Given the description of an element on the screen output the (x, y) to click on. 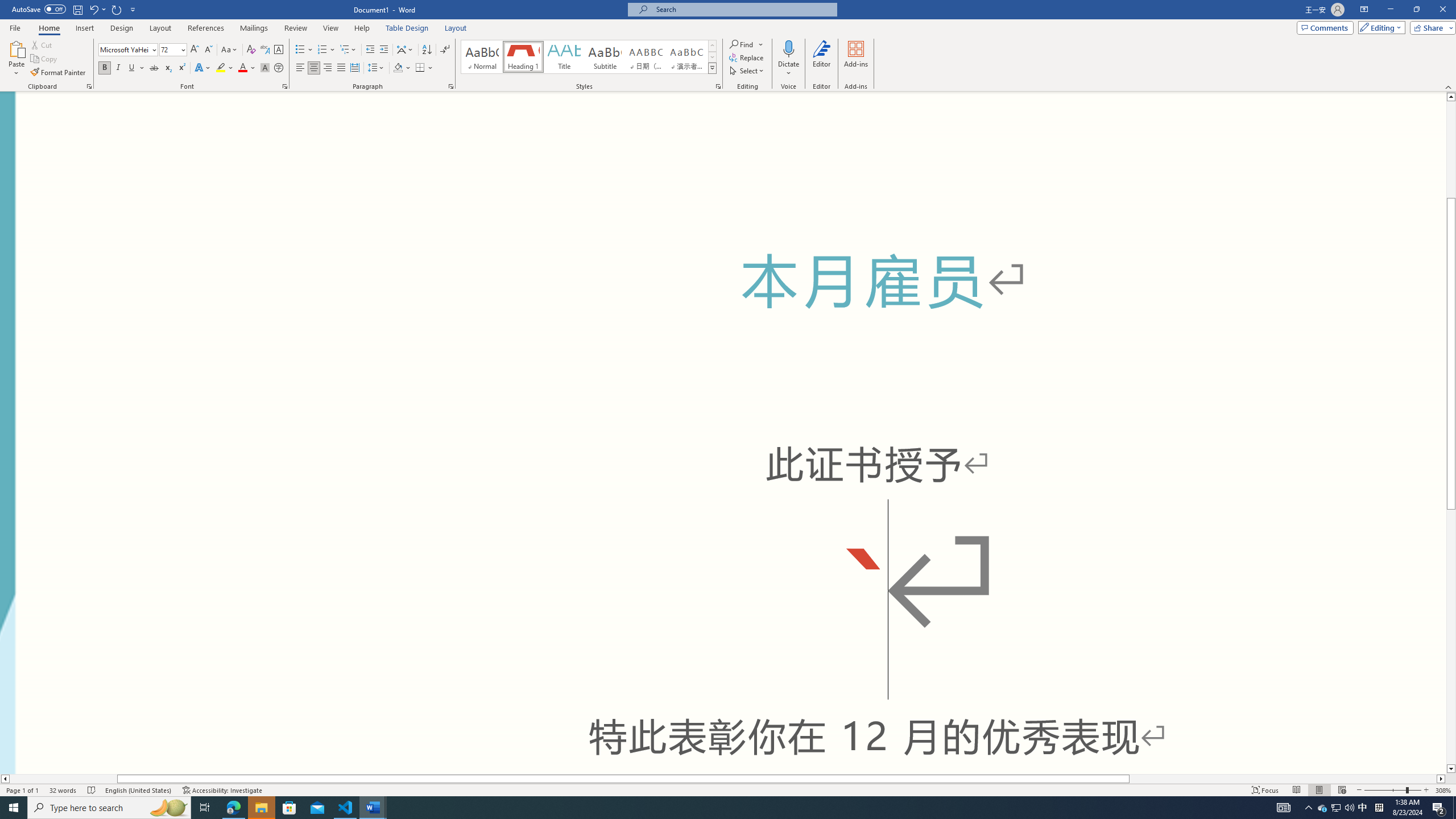
Print Layout (1318, 790)
Class: NetUIImage (712, 68)
Paste (16, 48)
Select (747, 69)
Help (361, 28)
Shrink Font (208, 49)
Multilevel List (347, 49)
Editor (821, 58)
Shading RGB(0, 0, 0) (397, 67)
Read Mode (1296, 790)
Zoom (1392, 790)
Copy (45, 58)
Zoom 308% (1443, 790)
